Given the description of an element on the screen output the (x, y) to click on. 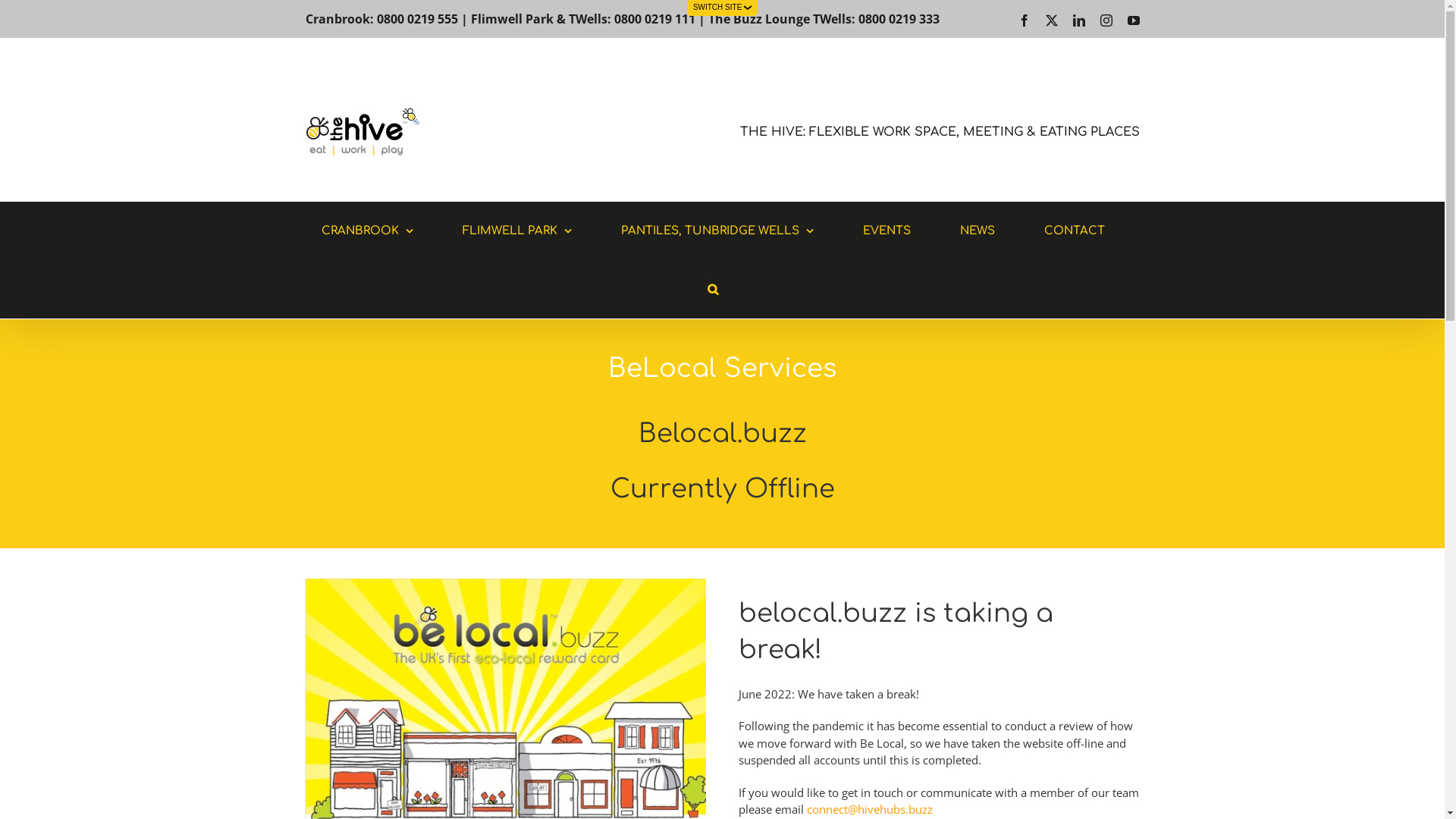
YouTube Element type: text (1132, 20)
Twitter Element type: text (1050, 20)
CRANBROOK Element type: text (367, 230)
LinkedIn Element type: text (1078, 20)
Facebook Element type: text (1023, 20)
Search Element type: hover (712, 289)
FLIMWELL PARK Element type: text (516, 230)
CONTACT Element type: text (1073, 230)
PANTILES, TUNBRIDGE WELLS Element type: text (716, 230)
connect@hivehubs.buzz Element type: text (869, 808)
NEWS Element type: text (977, 230)
Instagram Element type: text (1105, 20)
EVENTS Element type: text (886, 230)
